Given the description of an element on the screen output the (x, y) to click on. 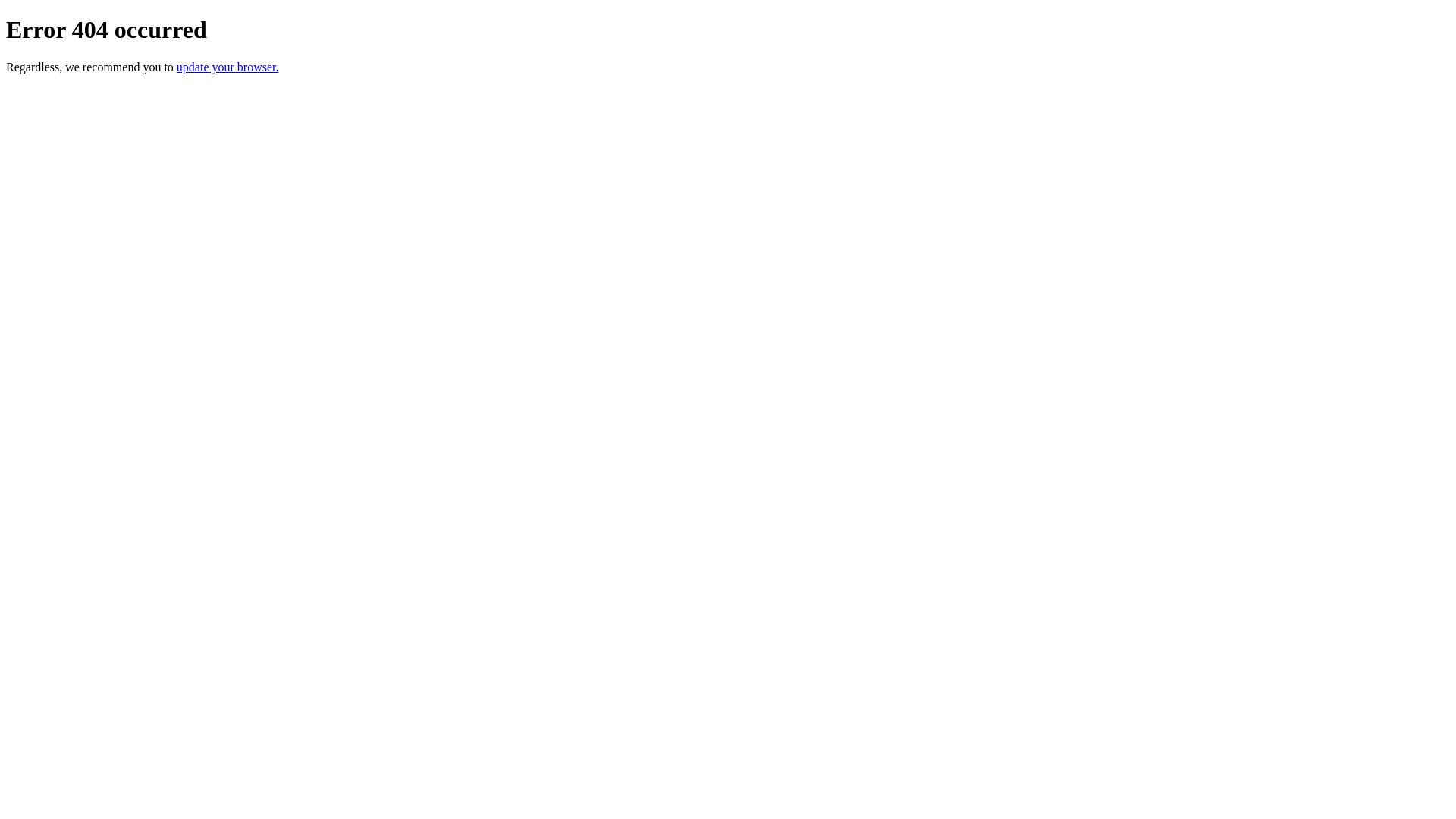
update your browser. Element type: text (227, 66)
